Given the description of an element on the screen output the (x, y) to click on. 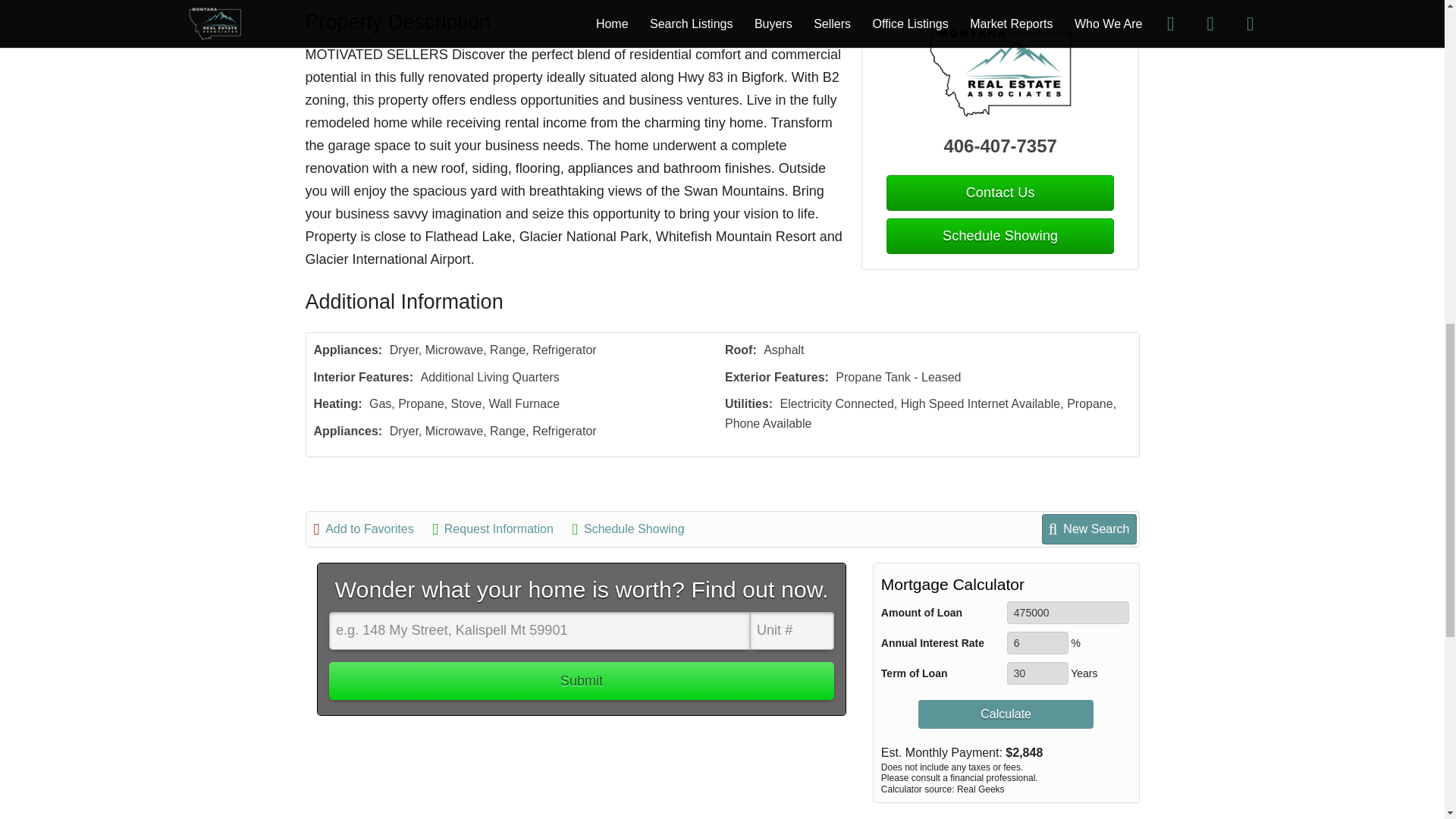
475000 (1068, 612)
406-407-7357 (1000, 145)
6 (1037, 642)
30 (1037, 672)
Schedule Showing (999, 235)
Contact Us (999, 192)
